Given the description of an element on the screen output the (x, y) to click on. 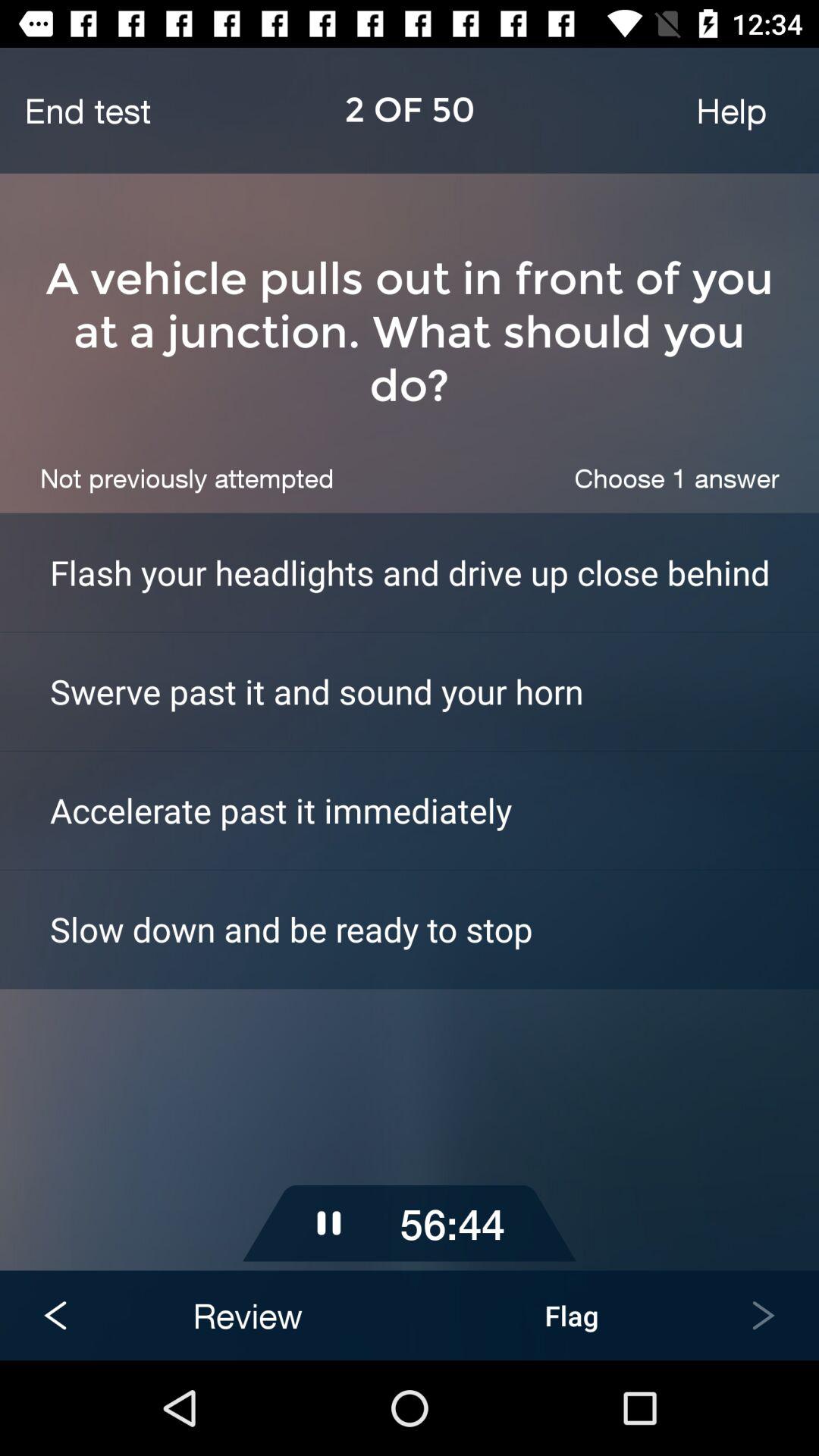
open item above flash your headlights icon (676, 477)
